Given the description of an element on the screen output the (x, y) to click on. 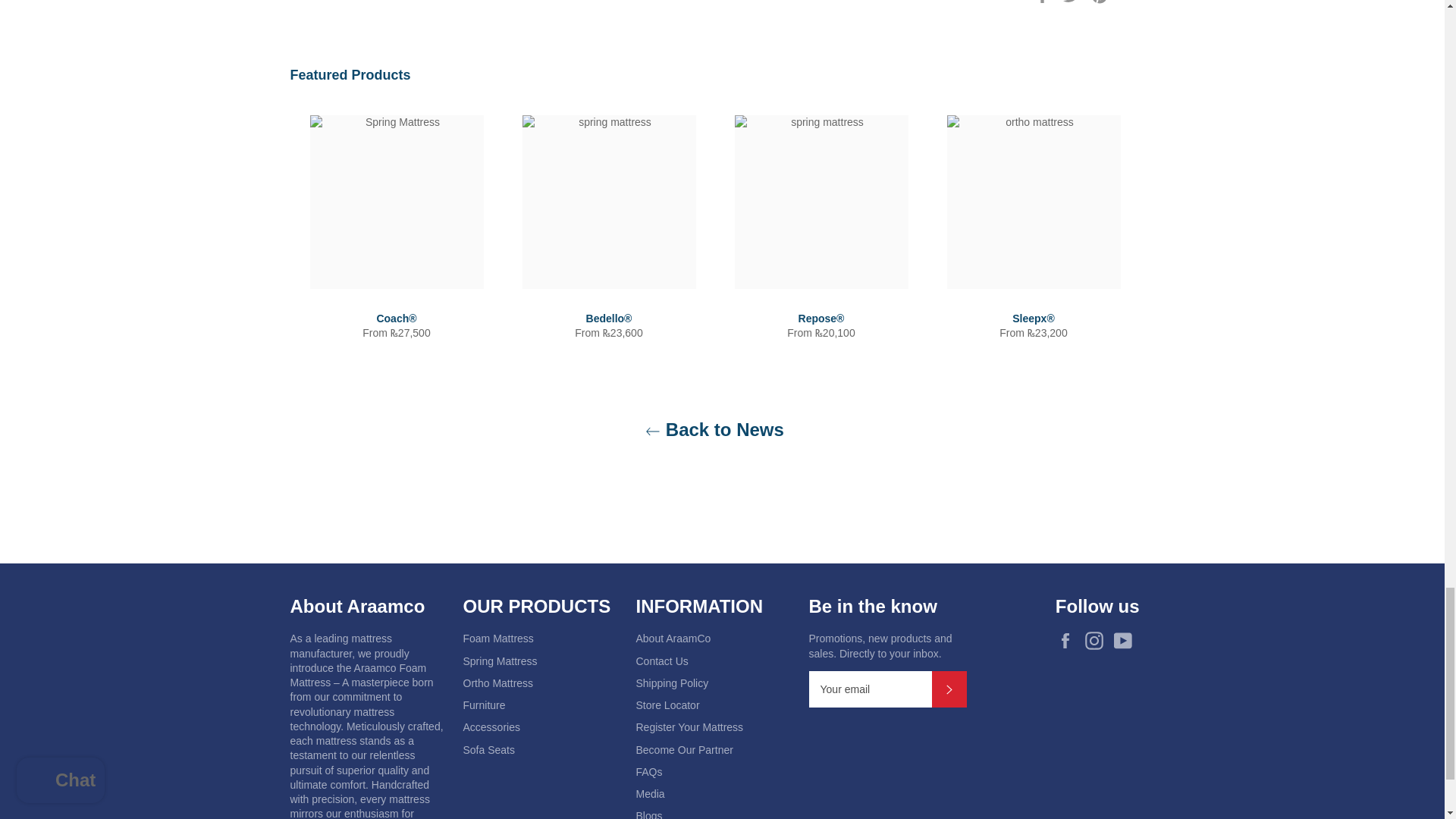
Araamco on YouTube (1125, 640)
Araamco on Facebook (1069, 640)
Araamco on Instagram (1097, 640)
Back to News (714, 429)
